Given the description of an element on the screen output the (x, y) to click on. 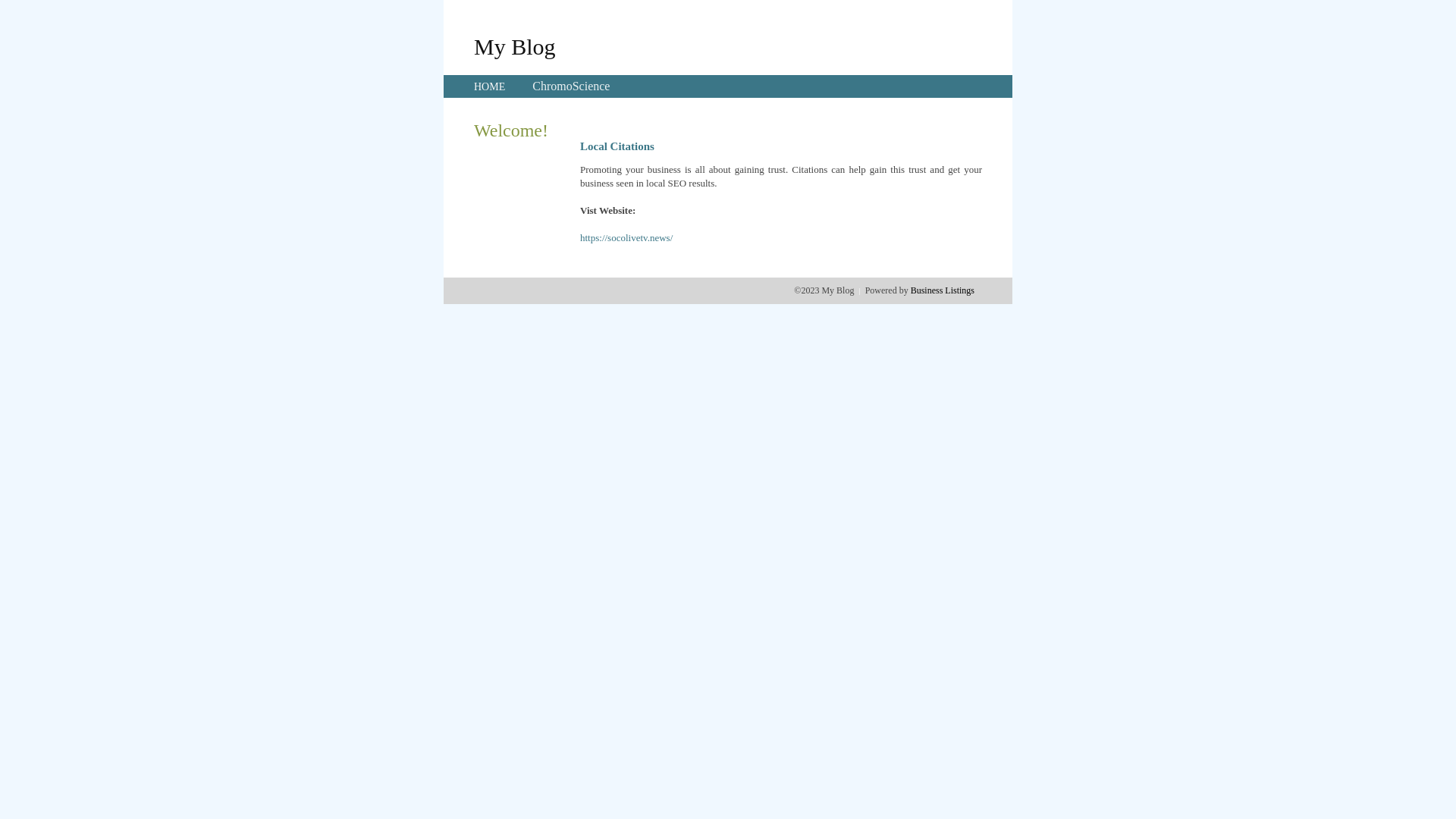
My Blog Element type: text (514, 46)
https://socolivetv.news/ Element type: text (626, 237)
ChromoScience Element type: text (570, 85)
HOME Element type: text (489, 86)
Business Listings Element type: text (942, 290)
